Given the description of an element on the screen output the (x, y) to click on. 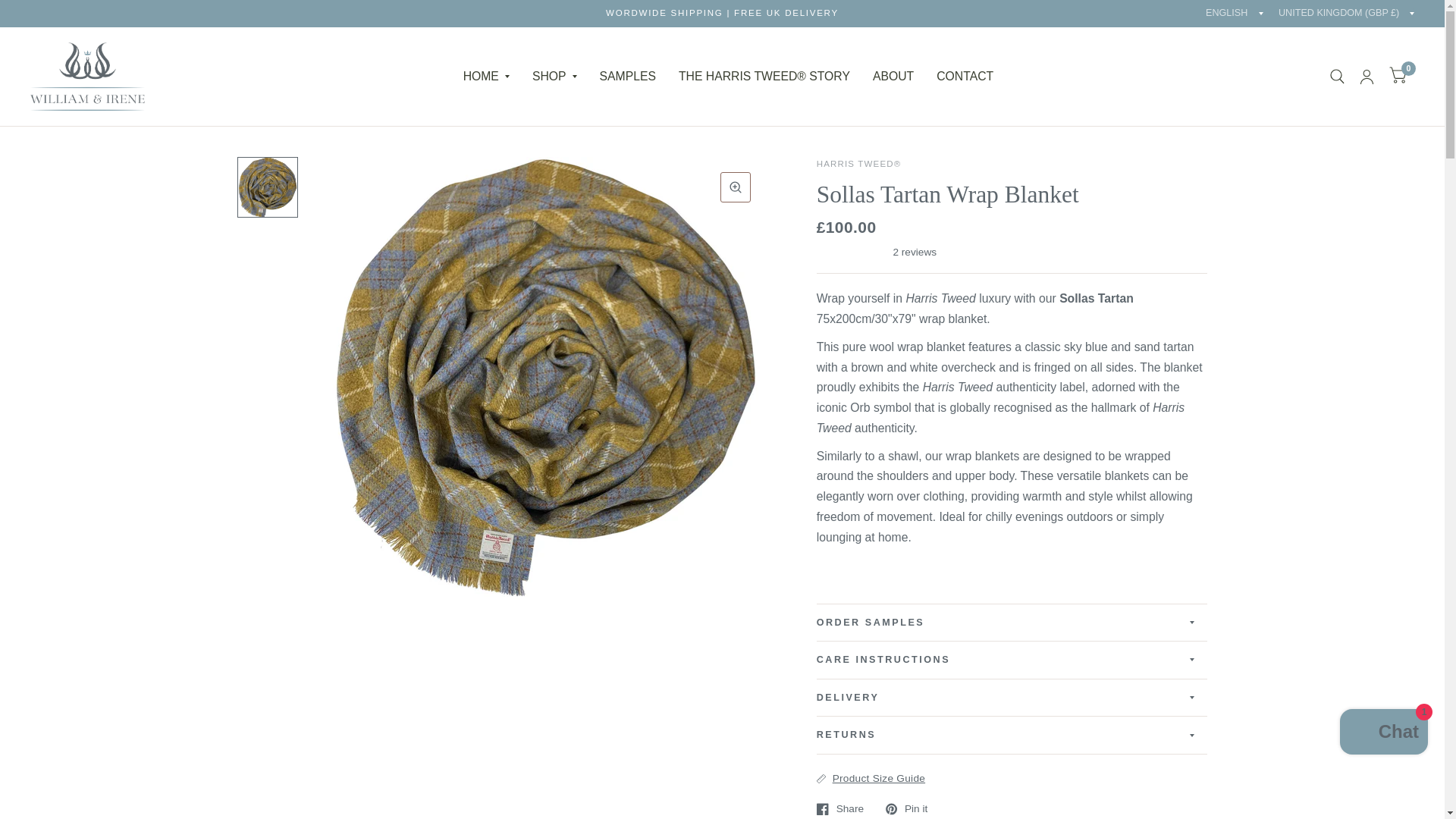
Share (839, 808)
ABOUT (893, 76)
Pin it (906, 808)
SHOP (554, 76)
2 reviews (1012, 251)
HOME (486, 76)
CONTACT (964, 76)
SAMPLES (627, 76)
Product Size Guide (870, 778)
